Given the description of an element on the screen output the (x, y) to click on. 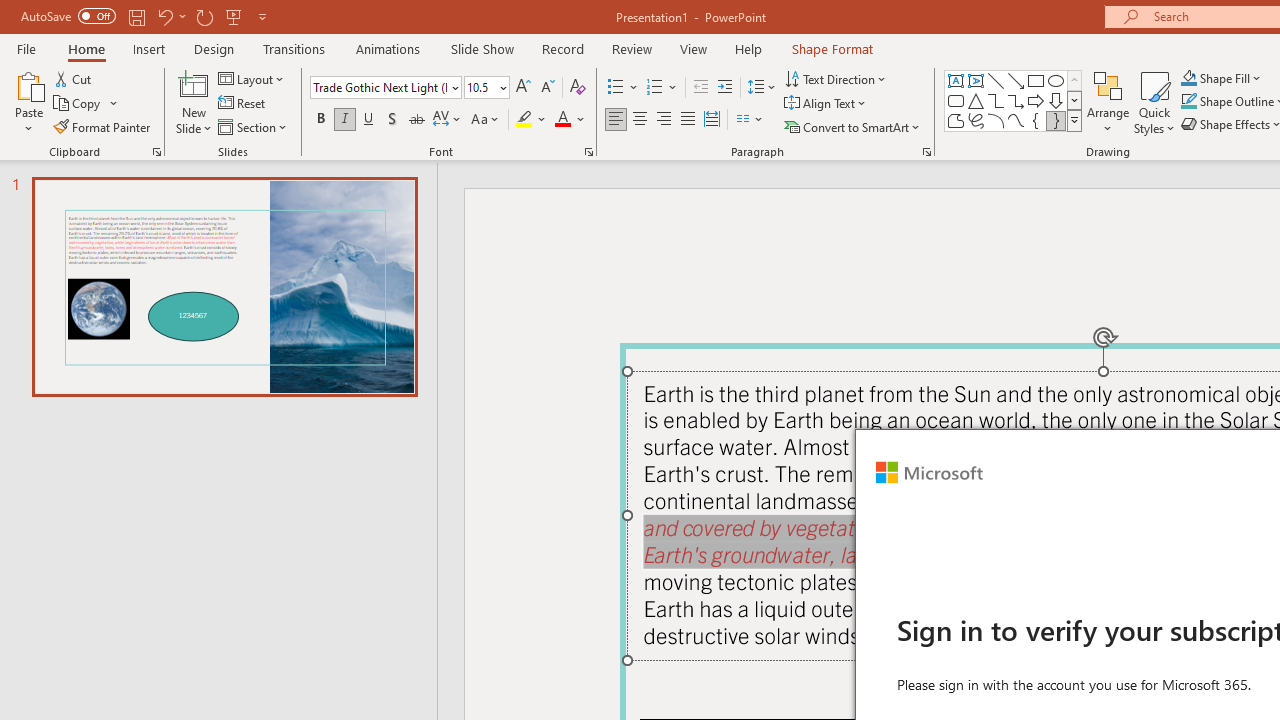
Columns (750, 119)
Connector: Elbow (995, 100)
Format Painter (103, 126)
Strikethrough (416, 119)
Line Spacing (762, 87)
Decrease Indent (700, 87)
